Given the description of an element on the screen output the (x, y) to click on. 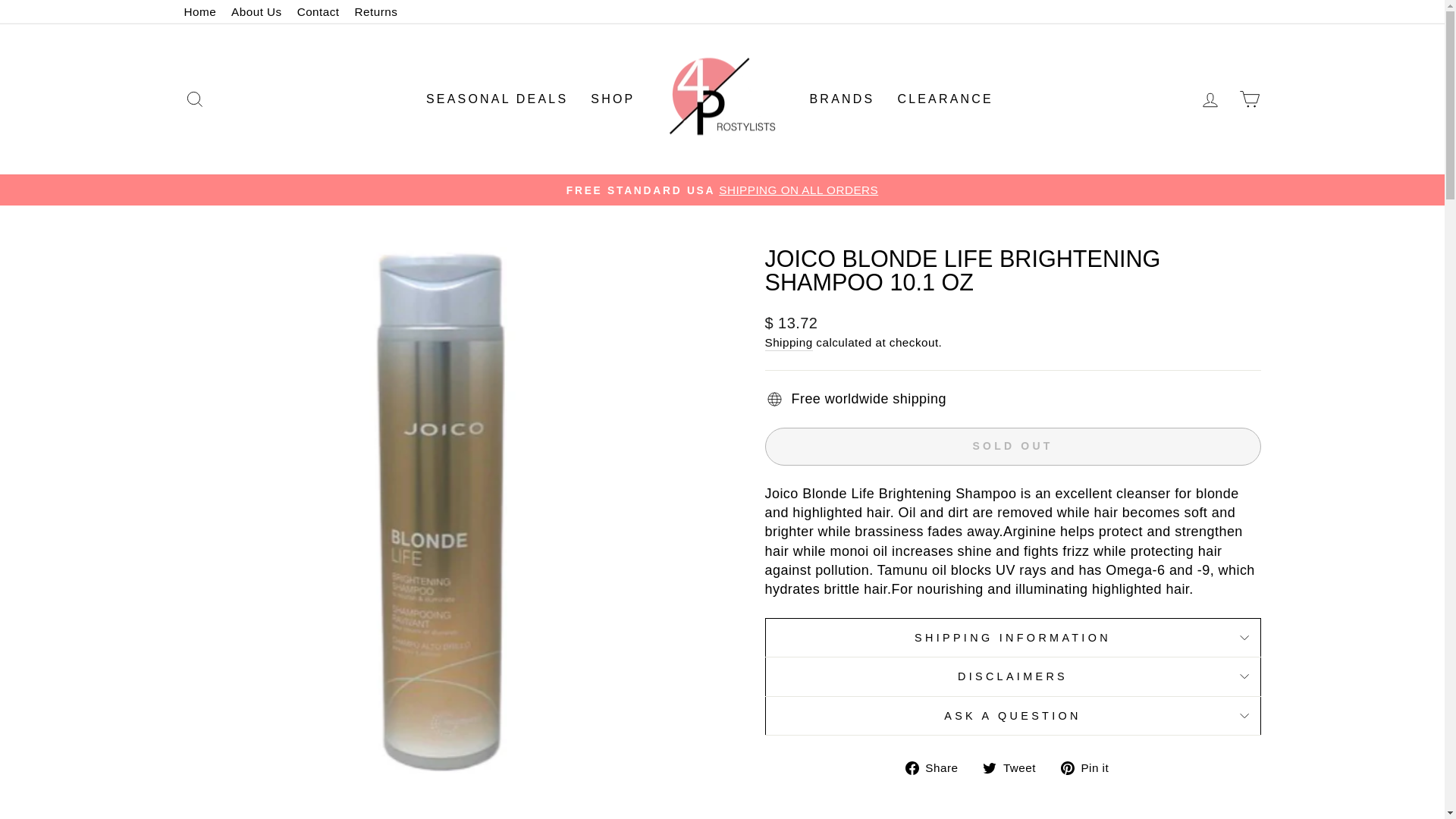
Share on Facebook (937, 767)
Tweet on Twitter (1014, 767)
Pin on Pinterest (1090, 767)
